Given the description of an element on the screen output the (x, y) to click on. 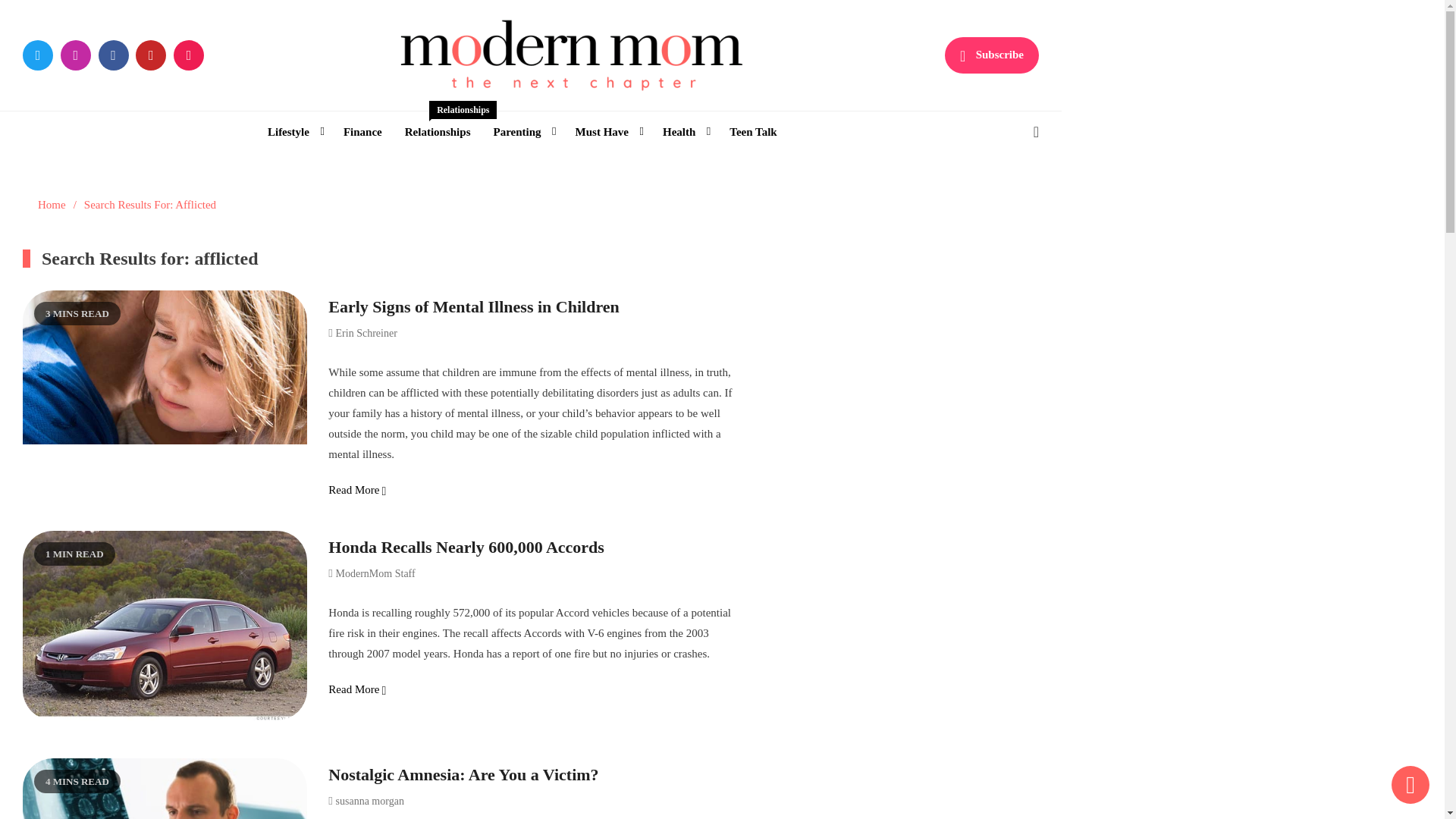
Must Have (607, 132)
Home (51, 204)
ModernMom (456, 115)
Teen Talk (752, 132)
Health (683, 132)
Finance (362, 132)
Lifestyle (293, 132)
Parenting (522, 132)
Subscribe (991, 54)
Search (996, 195)
